Given the description of an element on the screen output the (x, y) to click on. 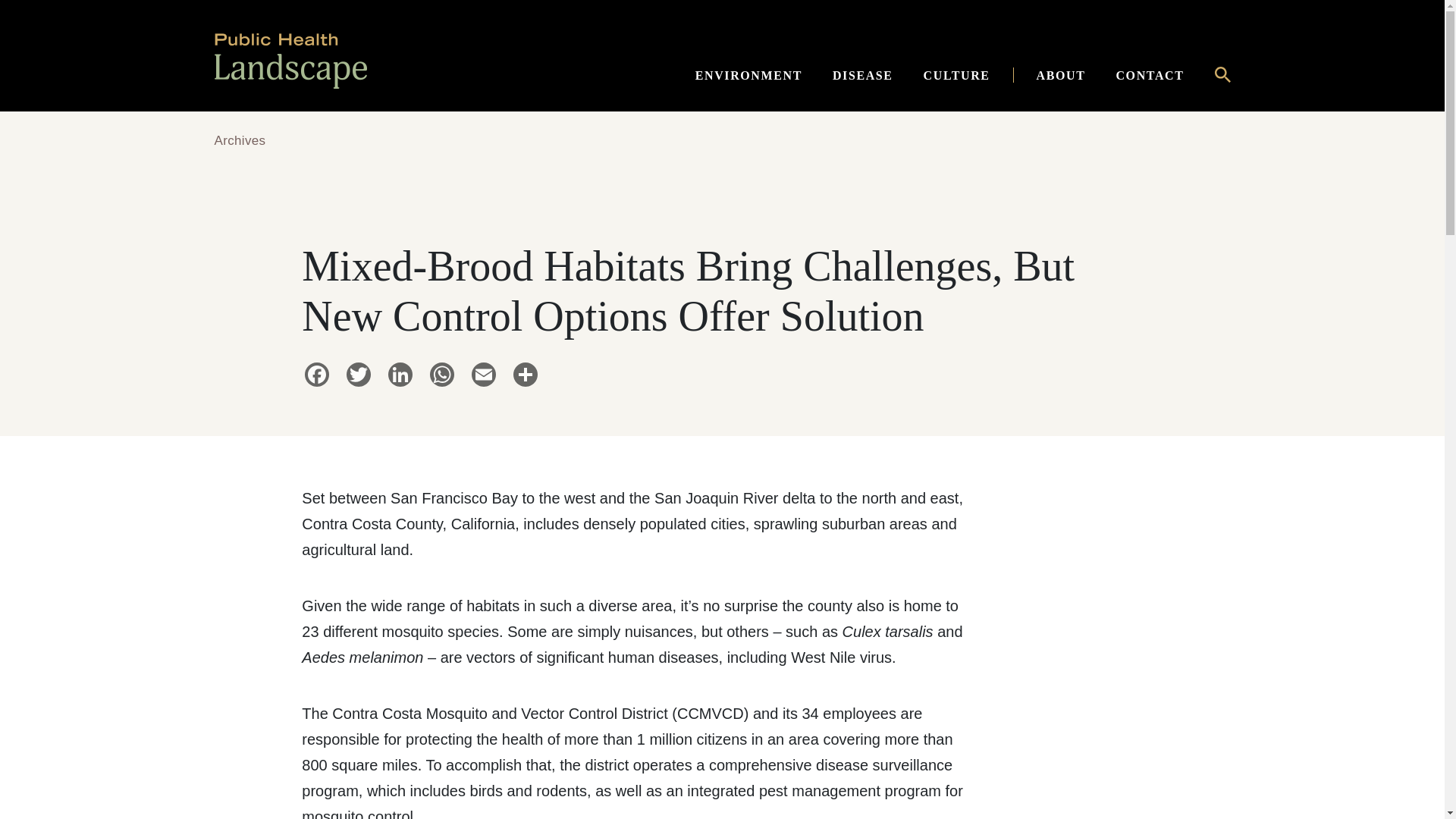
Twitter (358, 376)
Twitter (358, 376)
DISEASE (862, 72)
Email (483, 376)
Archives (239, 140)
ABOUT (1061, 72)
WhatsApp (441, 376)
Facebook (316, 376)
CULTURE (957, 72)
LinkedIn (399, 376)
